Given the description of an element on the screen output the (x, y) to click on. 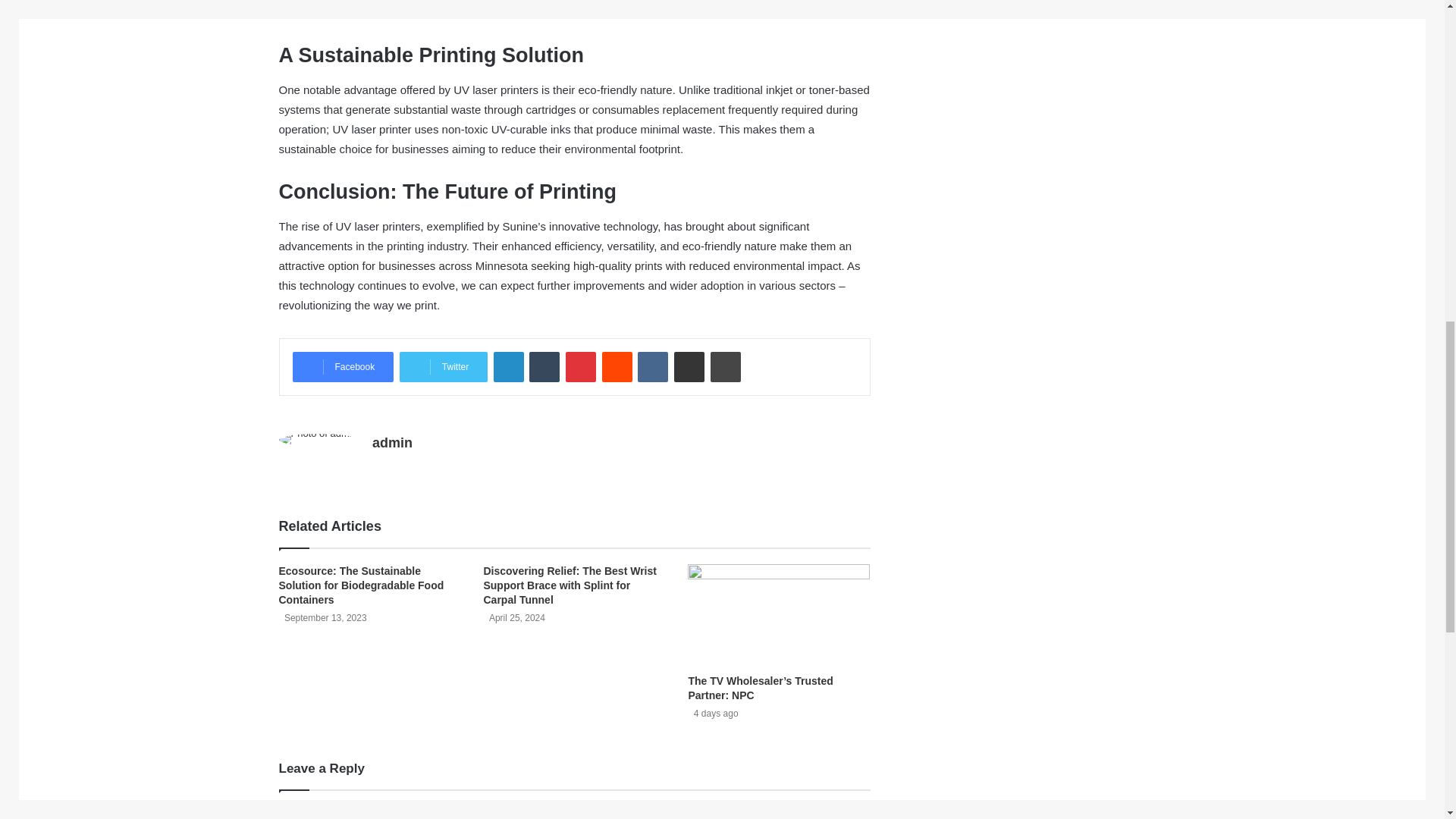
Pinterest (580, 367)
VKontakte (652, 367)
Reddit (616, 367)
Facebook (343, 367)
Facebook (343, 367)
admin (392, 442)
Print (725, 367)
Twitter (442, 367)
Twitter (442, 367)
Tumblr (544, 367)
VKontakte (652, 367)
Pinterest (580, 367)
LinkedIn (508, 367)
Share via Email (689, 367)
